Given the description of an element on the screen output the (x, y) to click on. 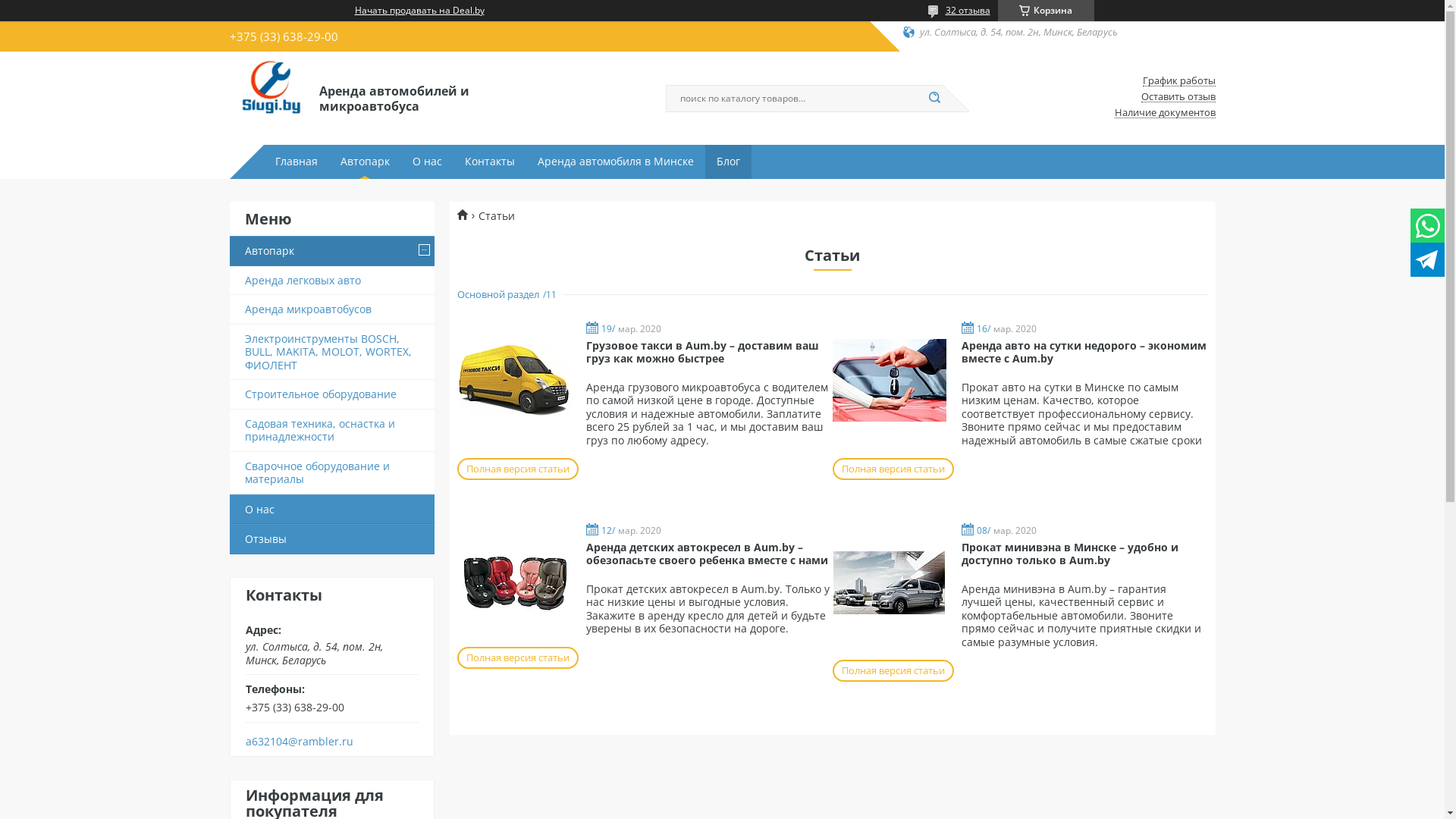
a632104@rambler.ru Element type: text (299, 741)
